Given the description of an element on the screen output the (x, y) to click on. 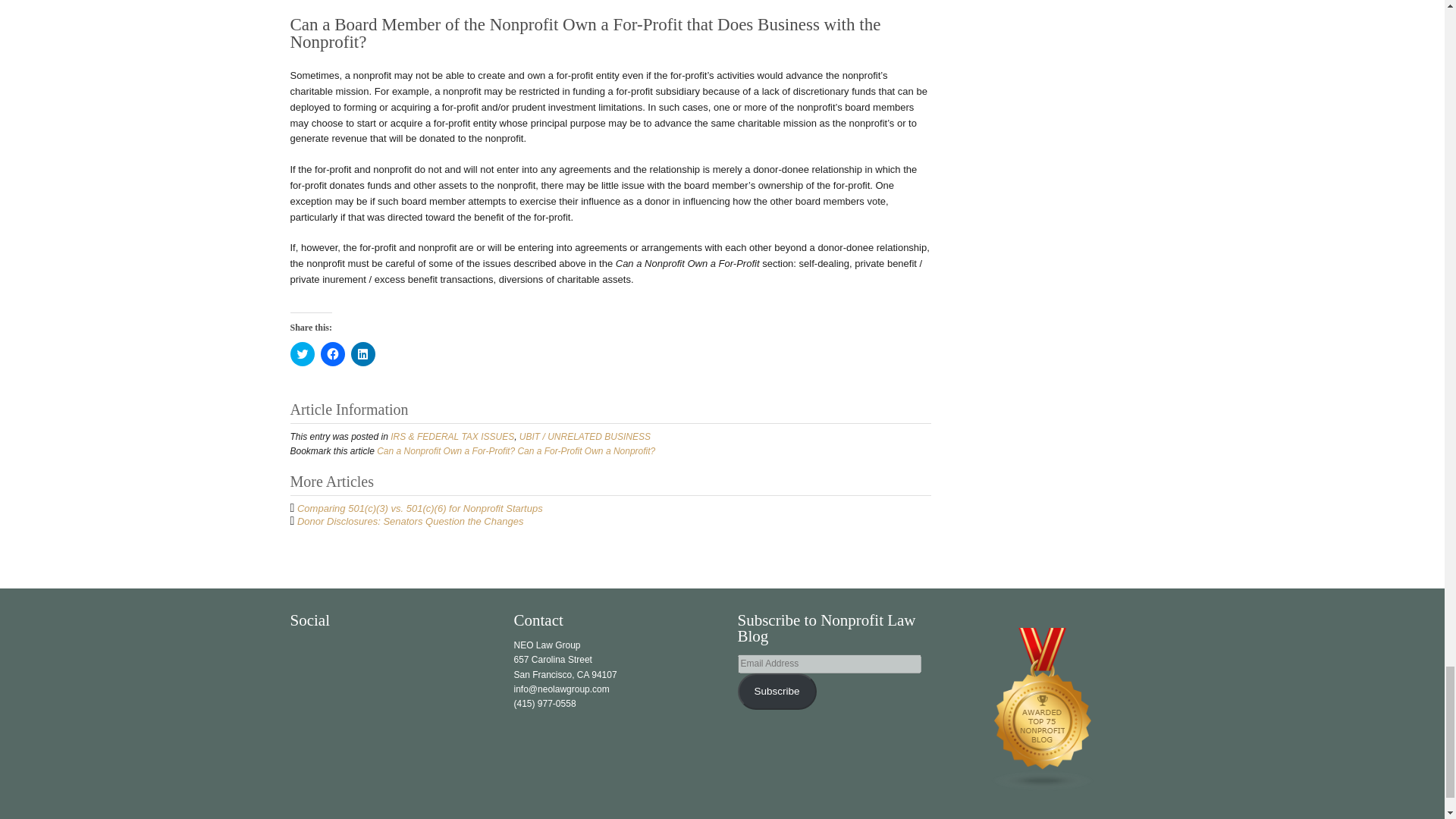
Donor Disclosures: Senators Question the Changes (409, 521)
Click to share on Twitter (301, 354)
Nonprofit blogs (1042, 708)
Click to share on Facebook (331, 354)
Click to share on LinkedIn (362, 354)
